Given the description of an element on the screen output the (x, y) to click on. 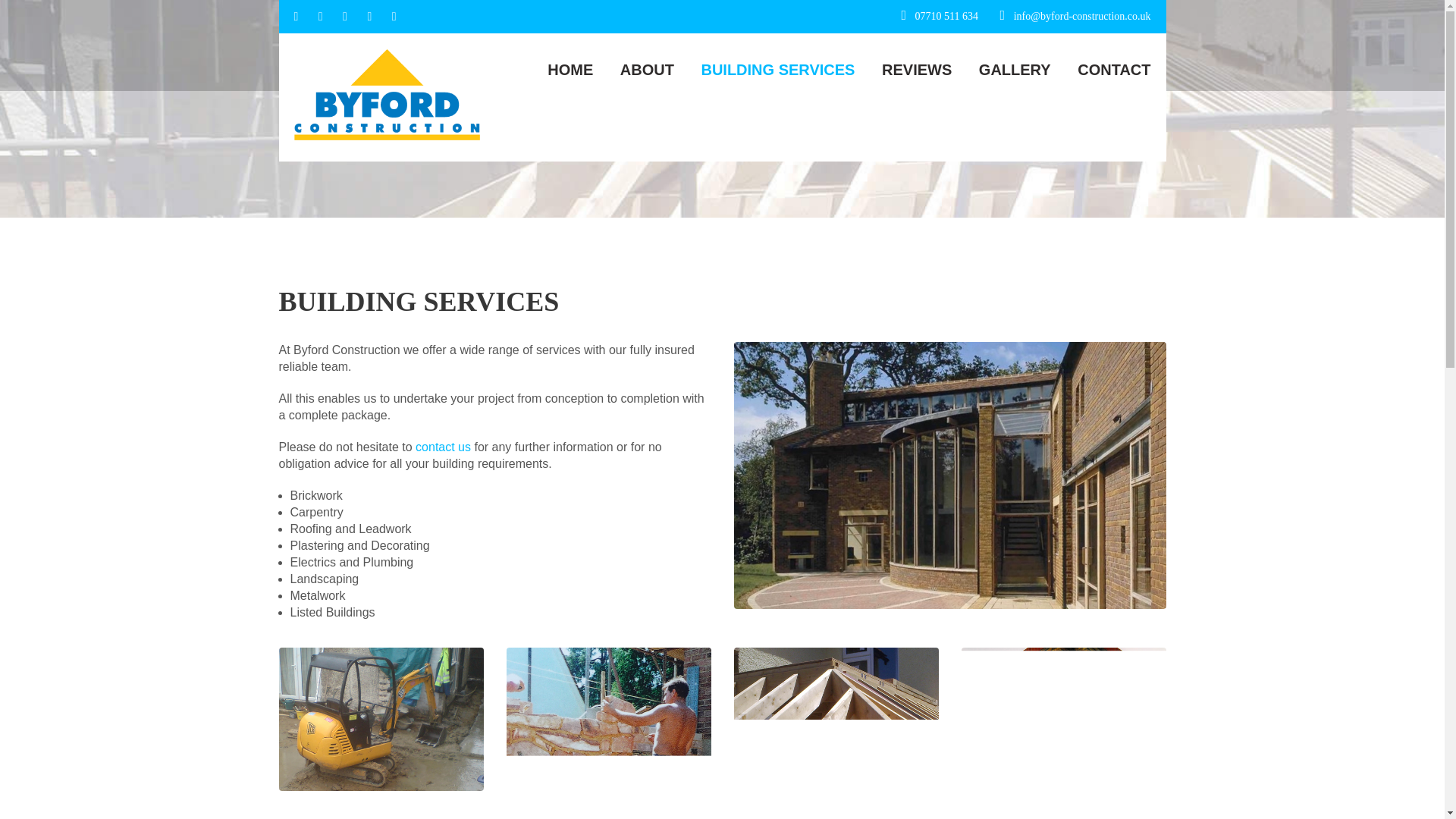
contact us (444, 446)
GALLERY (1003, 69)
oxshott new build (949, 475)
REVIEWS (905, 69)
CONTACT (1102, 69)
BUILDING SERVICES (766, 69)
HOME (558, 69)
ABOUT (635, 69)
